Given the description of an element on the screen output the (x, y) to click on. 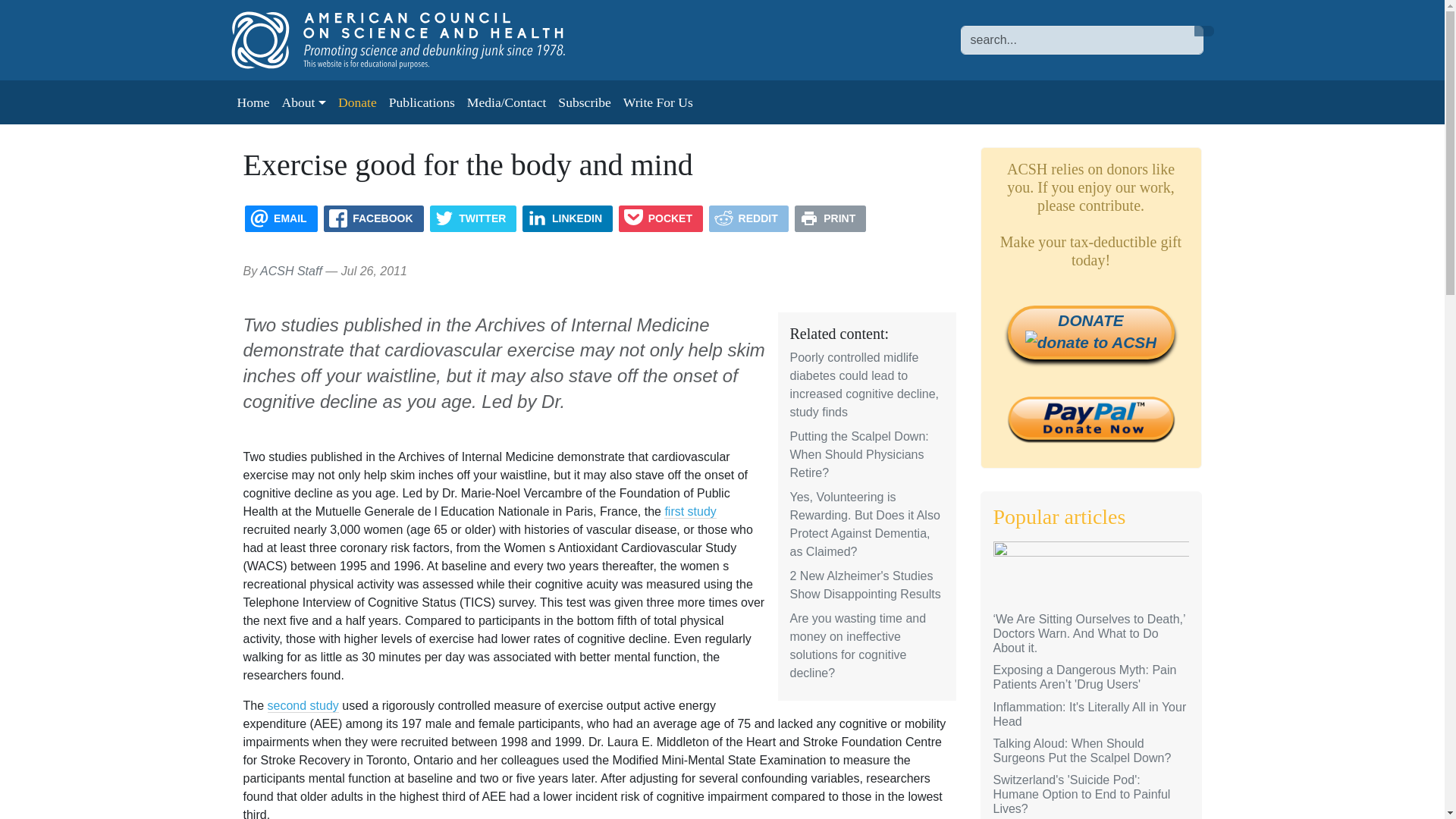
FACEBOOK (373, 218)
Subscribe (583, 101)
2 New Alzheimer's Studies Show Disappointing Results (865, 584)
Putting the Scalpel Down: When Should Physicians Retire? (859, 454)
second study (303, 705)
PRINT (830, 218)
LINKEDIN (567, 218)
Home (252, 101)
search (1202, 30)
Expand menu About (303, 101)
Write For Us (657, 101)
EMAIL (280, 218)
